Given the description of an element on the screen output the (x, y) to click on. 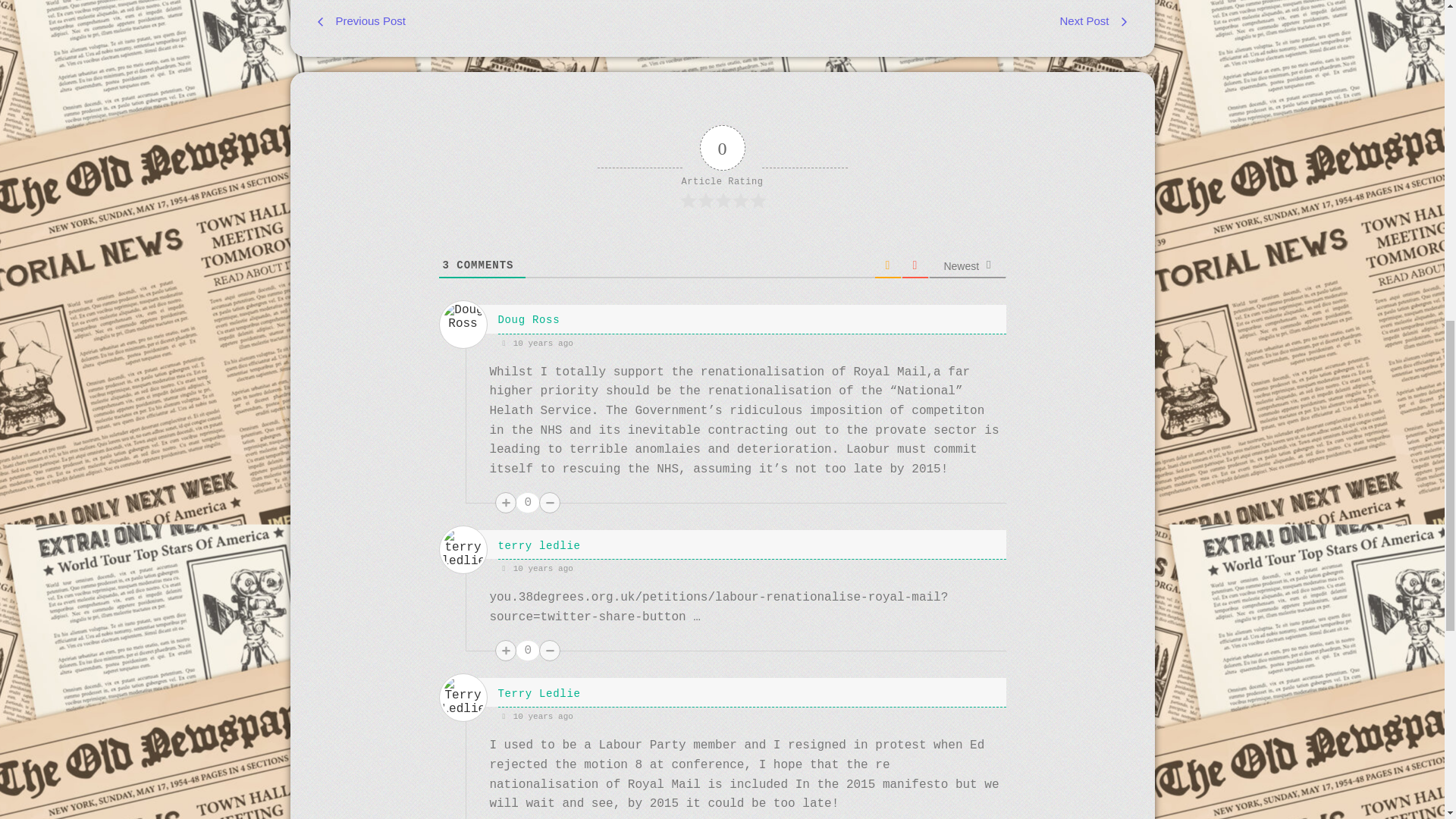
Next Post (931, 21)
0 (527, 650)
Previous Post (513, 21)
0 (527, 502)
